Given the description of an element on the screen output the (x, y) to click on. 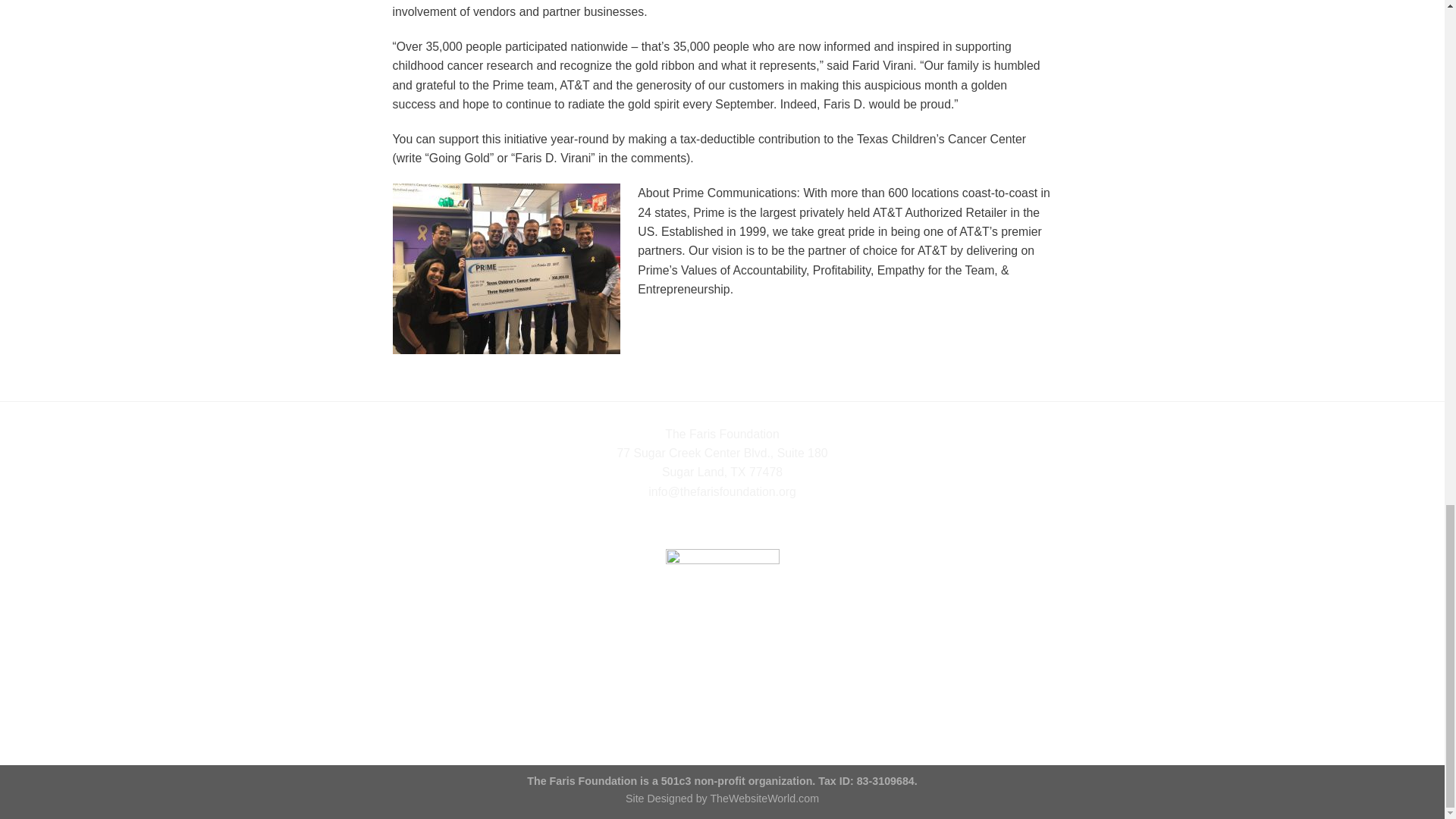
TheWebsiteWorld.com (764, 798)
